Given the description of an element on the screen output the (x, y) to click on. 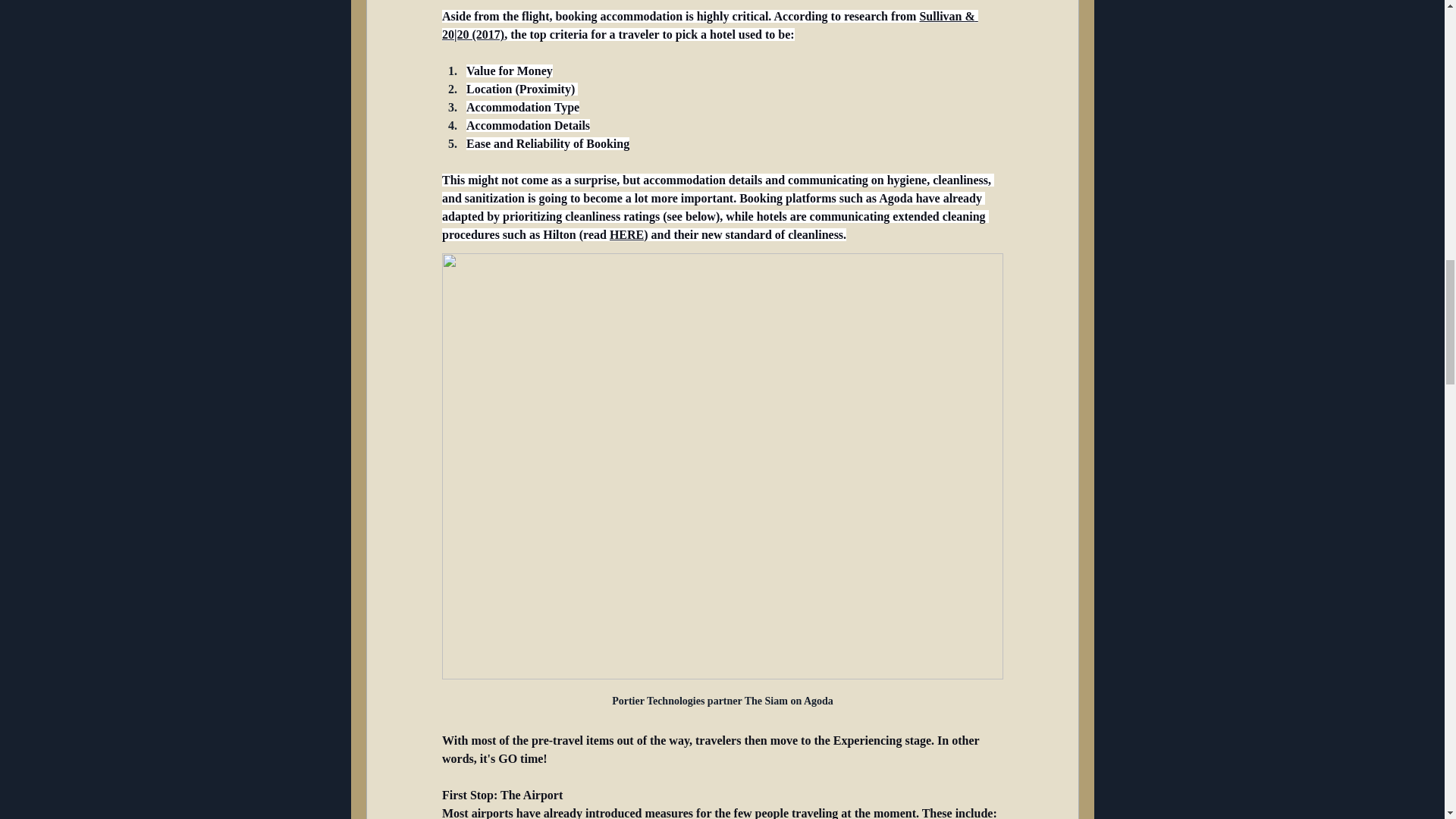
HERE (625, 234)
